Given the description of an element on the screen output the (x, y) to click on. 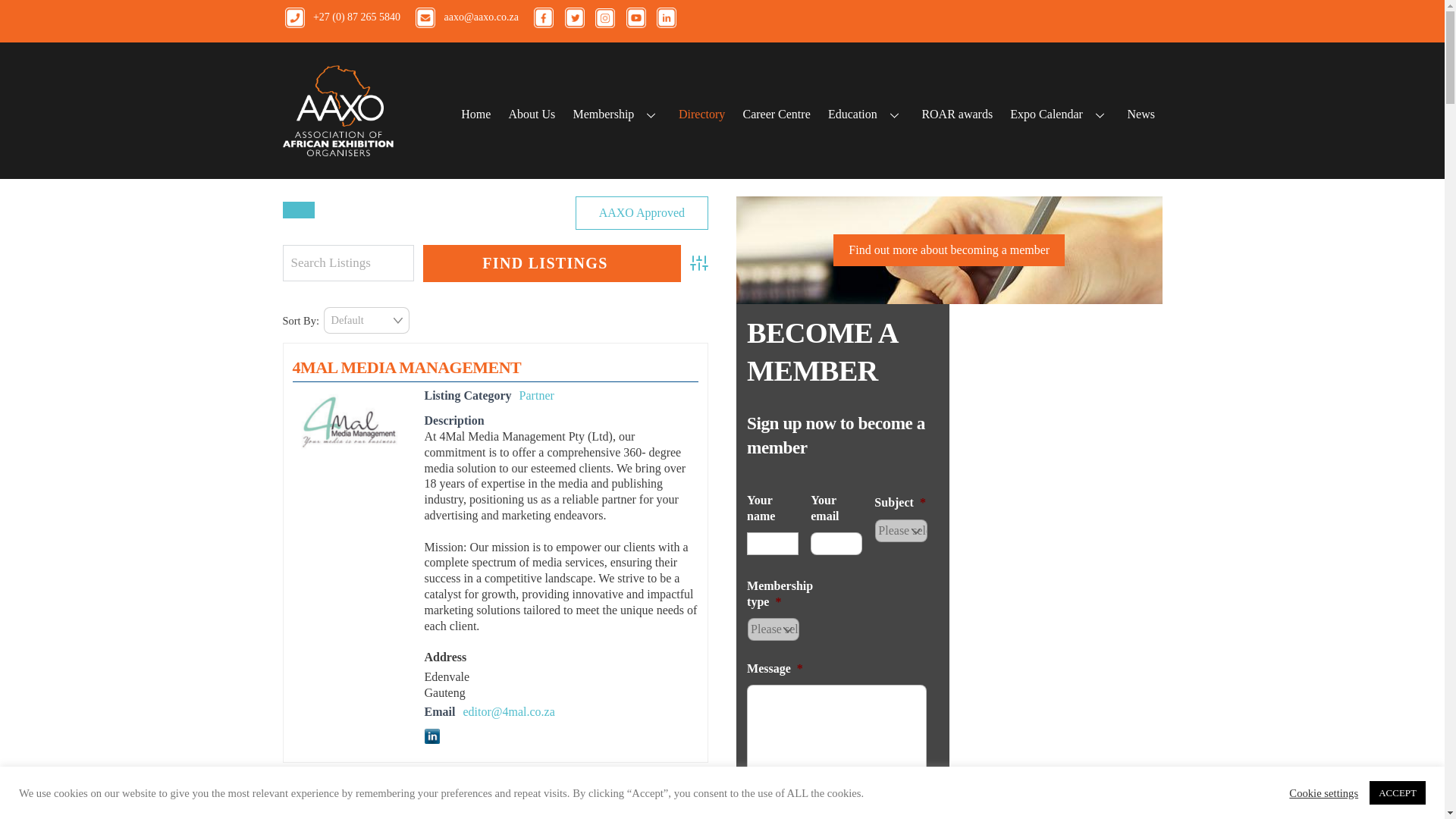
Find Listings (552, 262)
4MAL MEDIA MANAGEMENT (406, 366)
Home (475, 114)
Advanced Search (698, 262)
About Us (531, 114)
Membership (617, 114)
Directory (701, 114)
ROAR awards (957, 114)
aaxo-in-wht (665, 17)
AI MEDIA (330, 805)
aaxo-insta-wht (604, 17)
aaxo-twitter-wht (574, 17)
Find Listings (552, 262)
Expo Calendar (1059, 114)
